Given the description of an element on the screen output the (x, y) to click on. 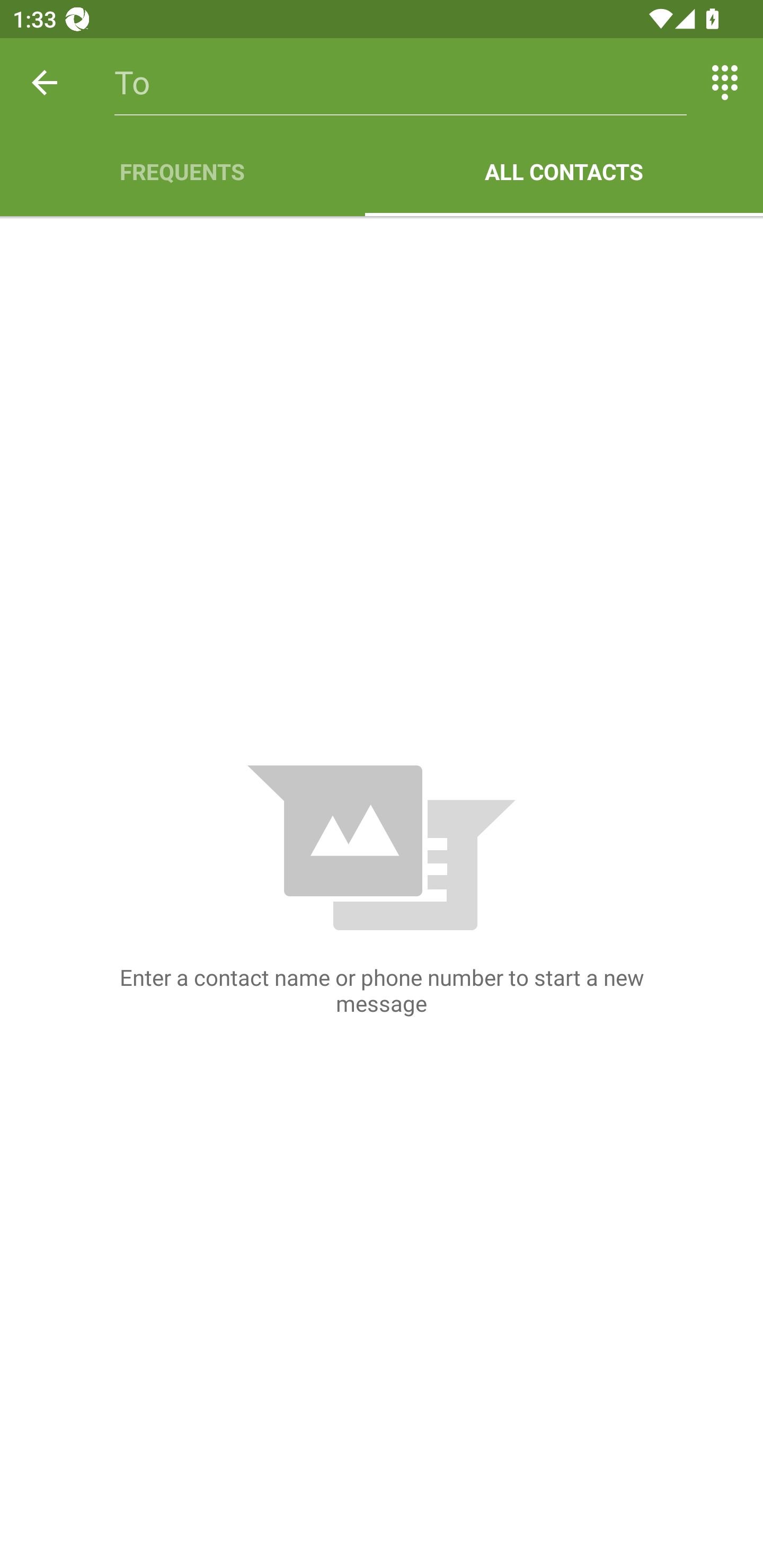
Back (44, 82)
Switch between entering text and numbers (724, 81)
To (400, 82)
FREQUENTS (182, 171)
ALL CONTACTS (563, 171)
